Given the description of an element on the screen output the (x, y) to click on. 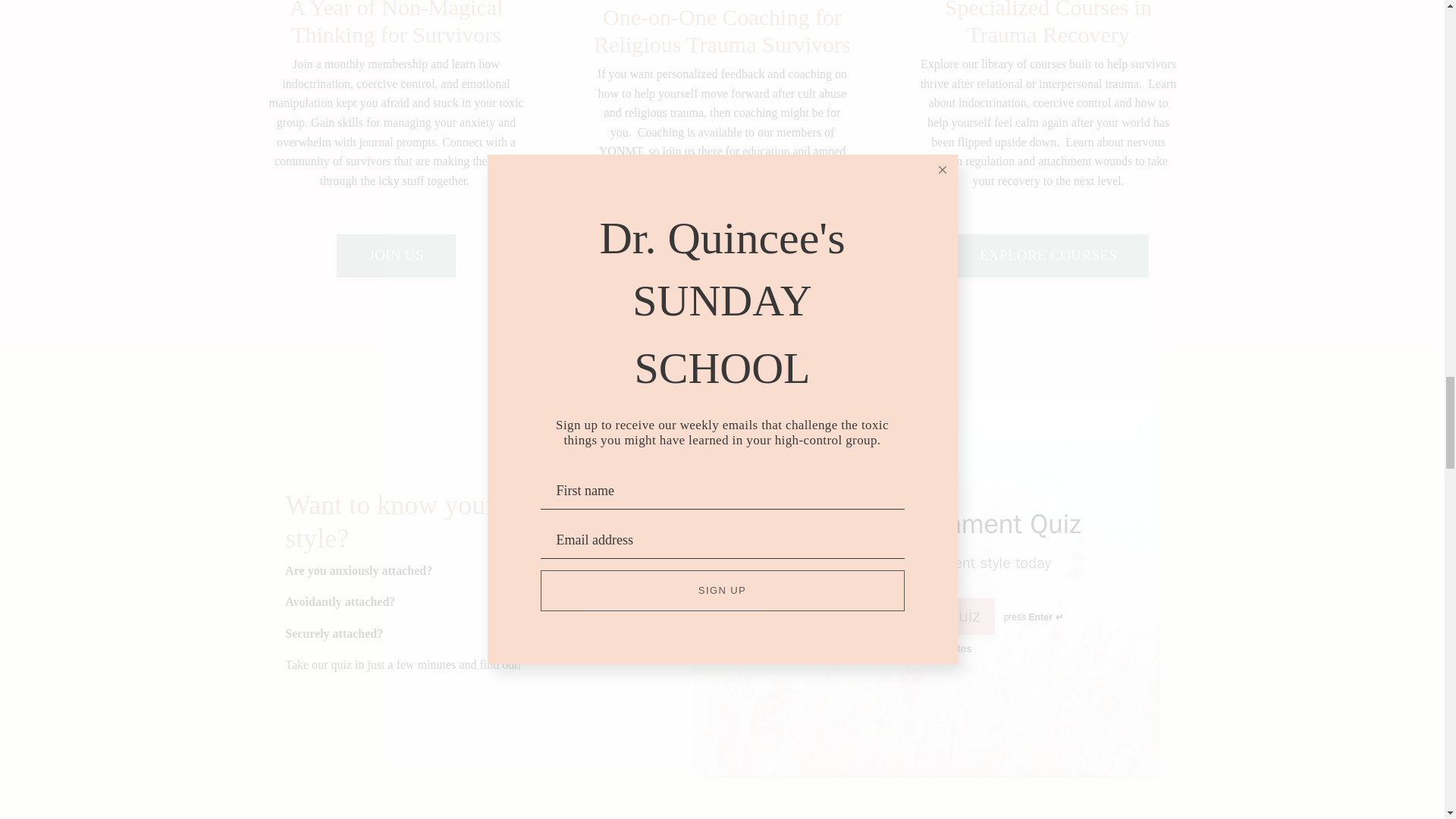
LEARN MORE (722, 245)
JOIN US (395, 255)
EXPLORE COURSES (1047, 255)
